Given the description of an element on the screen output the (x, y) to click on. 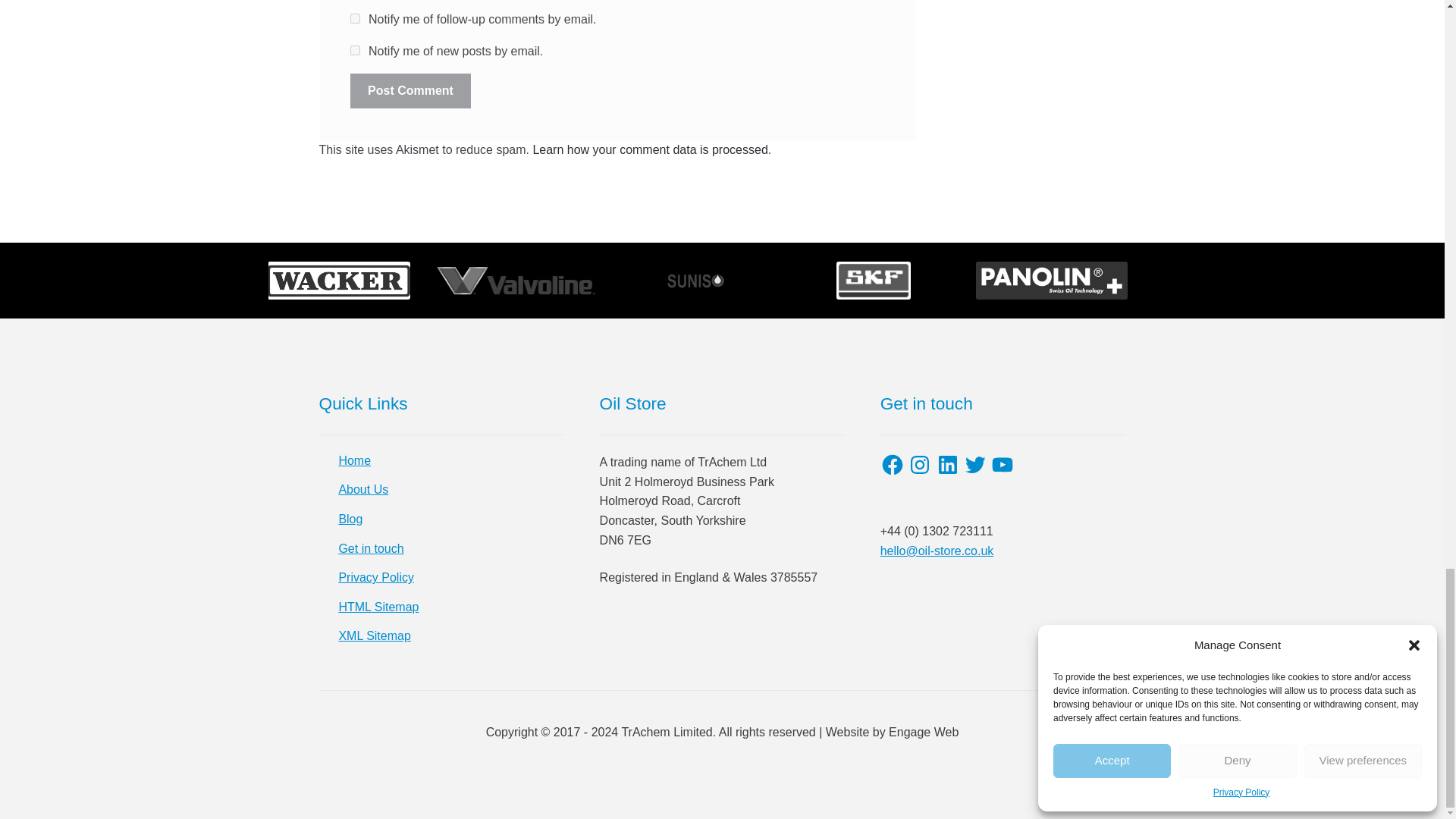
subscribe (354, 18)
subscribe (354, 50)
Valvoline (516, 280)
SKF Grease (873, 280)
Panolin (1050, 280)
WACKER (338, 280)
Suniso (695, 280)
Post Comment (410, 90)
